Given the description of an element on the screen output the (x, y) to click on. 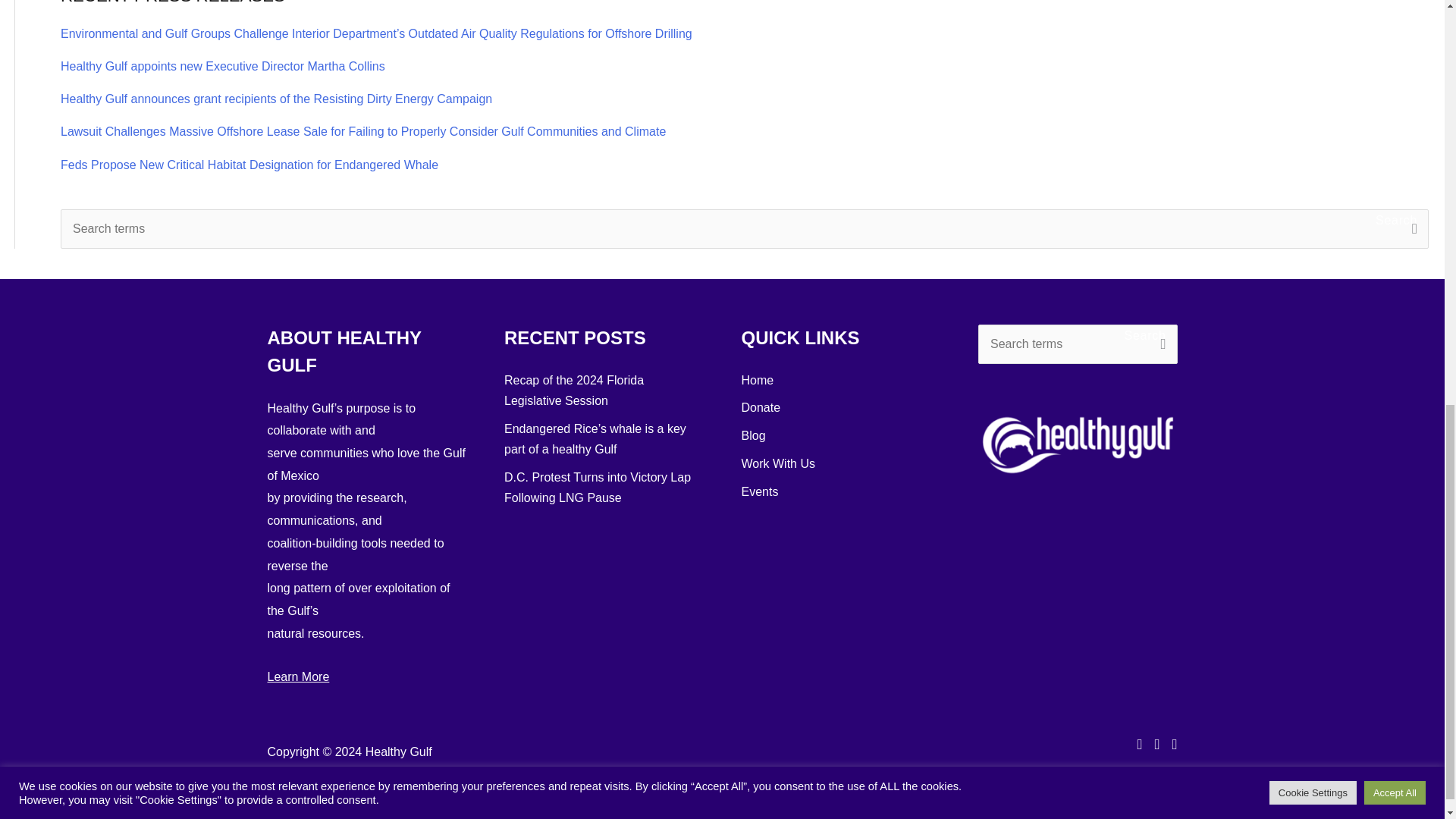
Search for: (1077, 343)
Search for: (744, 228)
